Given the description of an element on the screen output the (x, y) to click on. 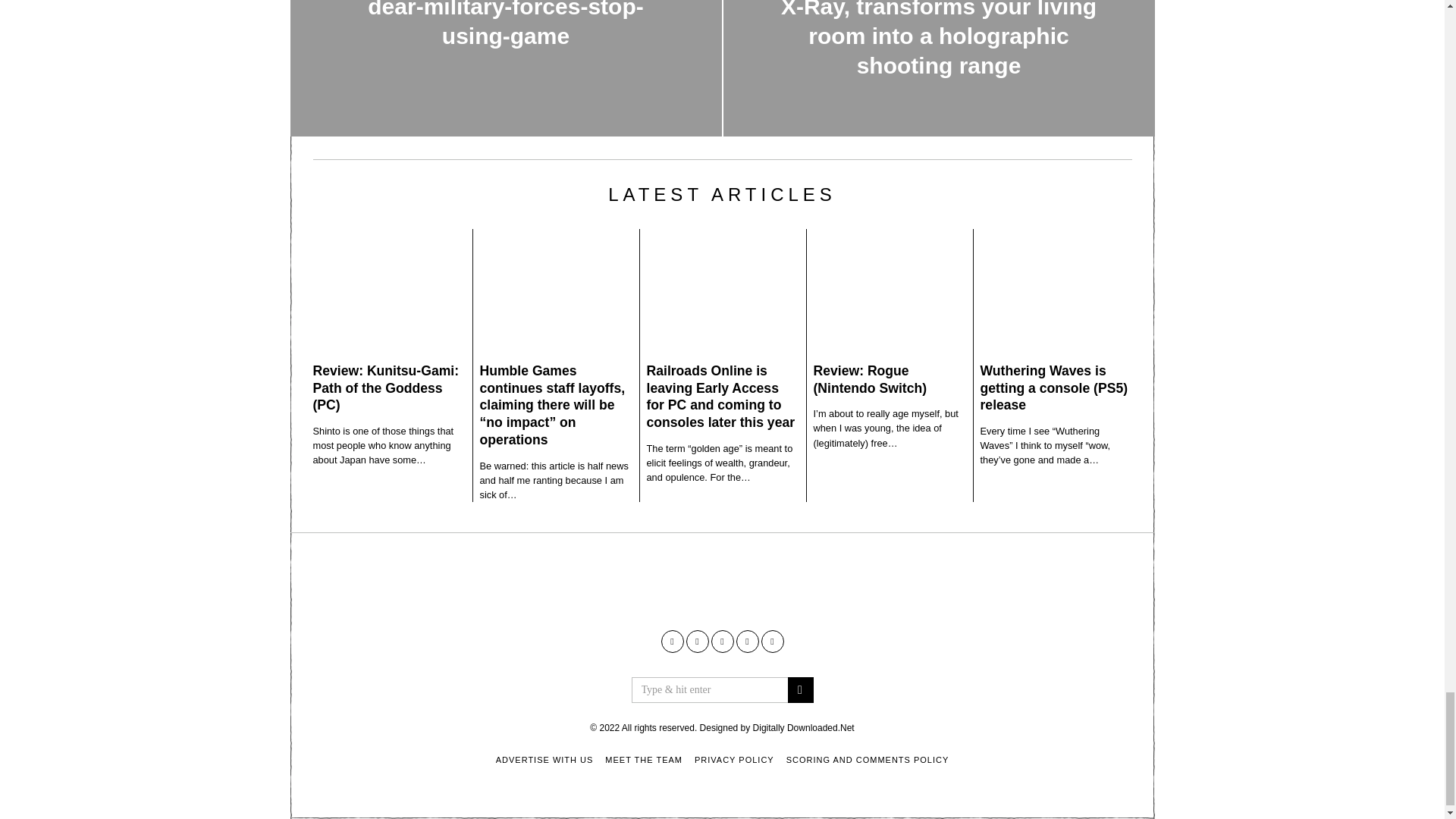
itch.io (722, 640)
Facebook (672, 640)
Discord (772, 640)
Go (799, 689)
YouTube (696, 640)
Patreon (746, 640)
